Given the description of an element on the screen output the (x, y) to click on. 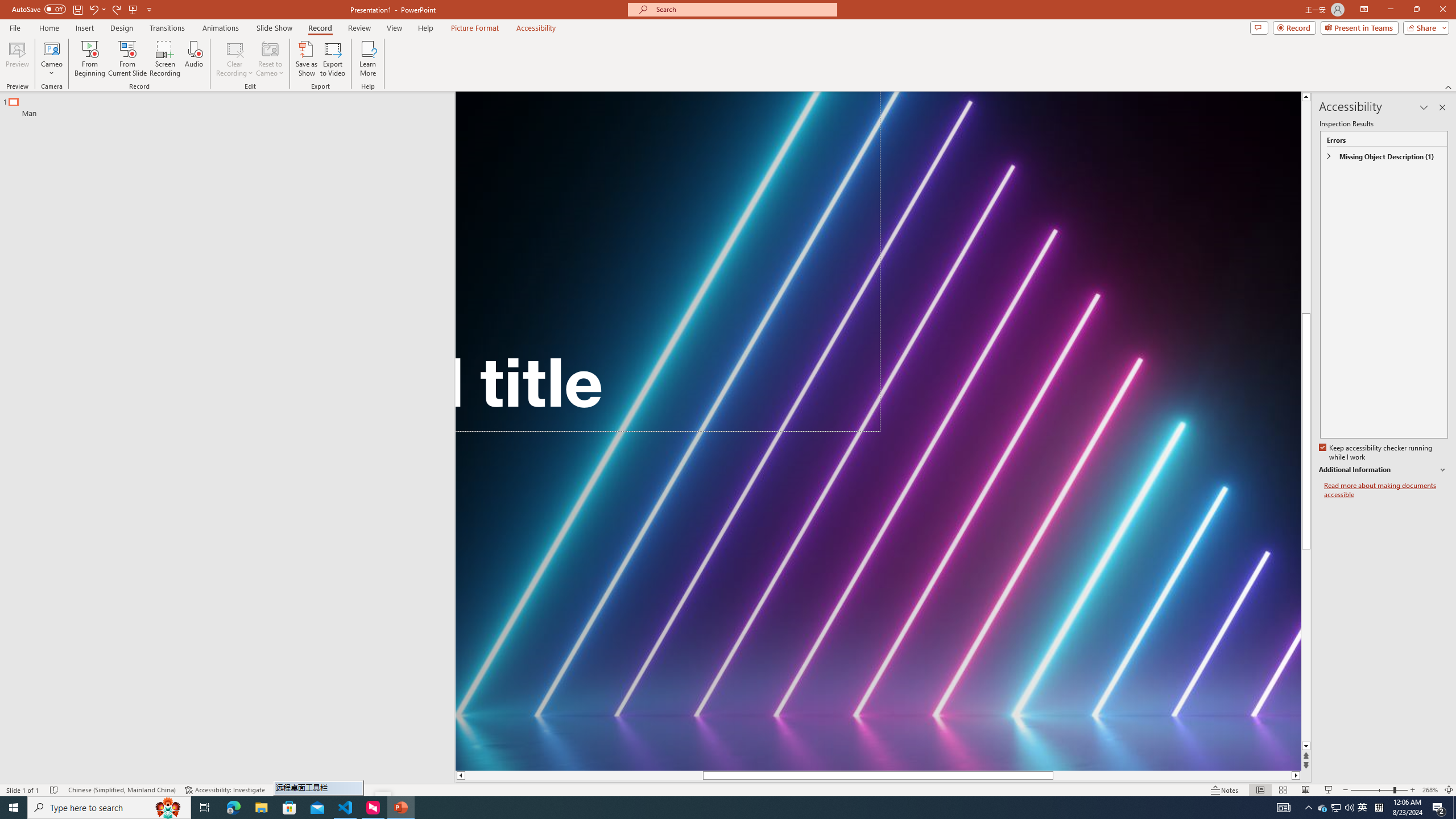
Outline (231, 104)
Zoom In (1412, 790)
Reset to Cameo (269, 58)
Clear Recording (234, 58)
Cameo (51, 58)
Slide Sorter (1282, 790)
